Given the description of an element on the screen output the (x, y) to click on. 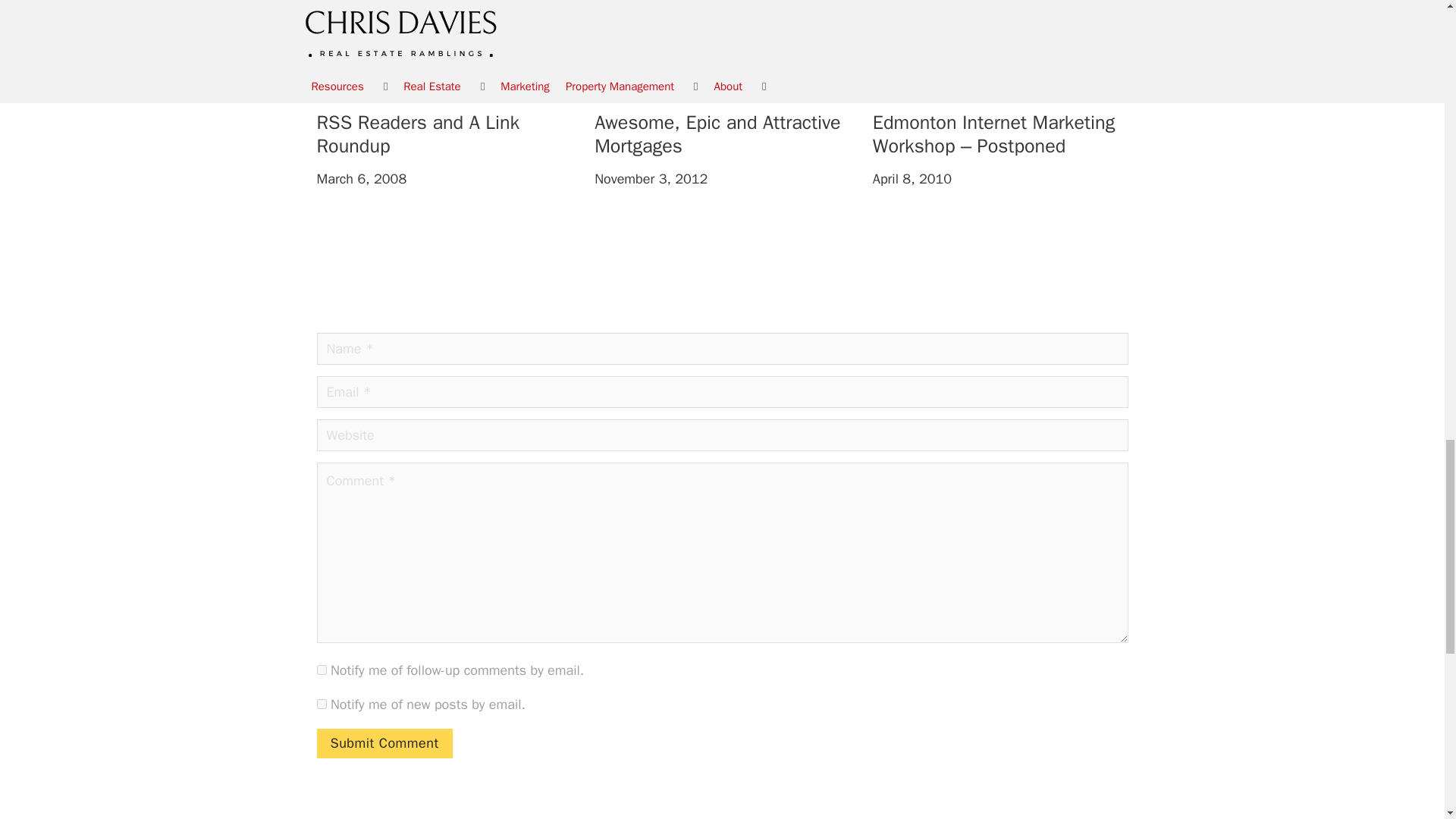
subscribe (321, 669)
subscribe (321, 704)
Submit Comment (384, 743)
